Given the description of an element on the screen output the (x, y) to click on. 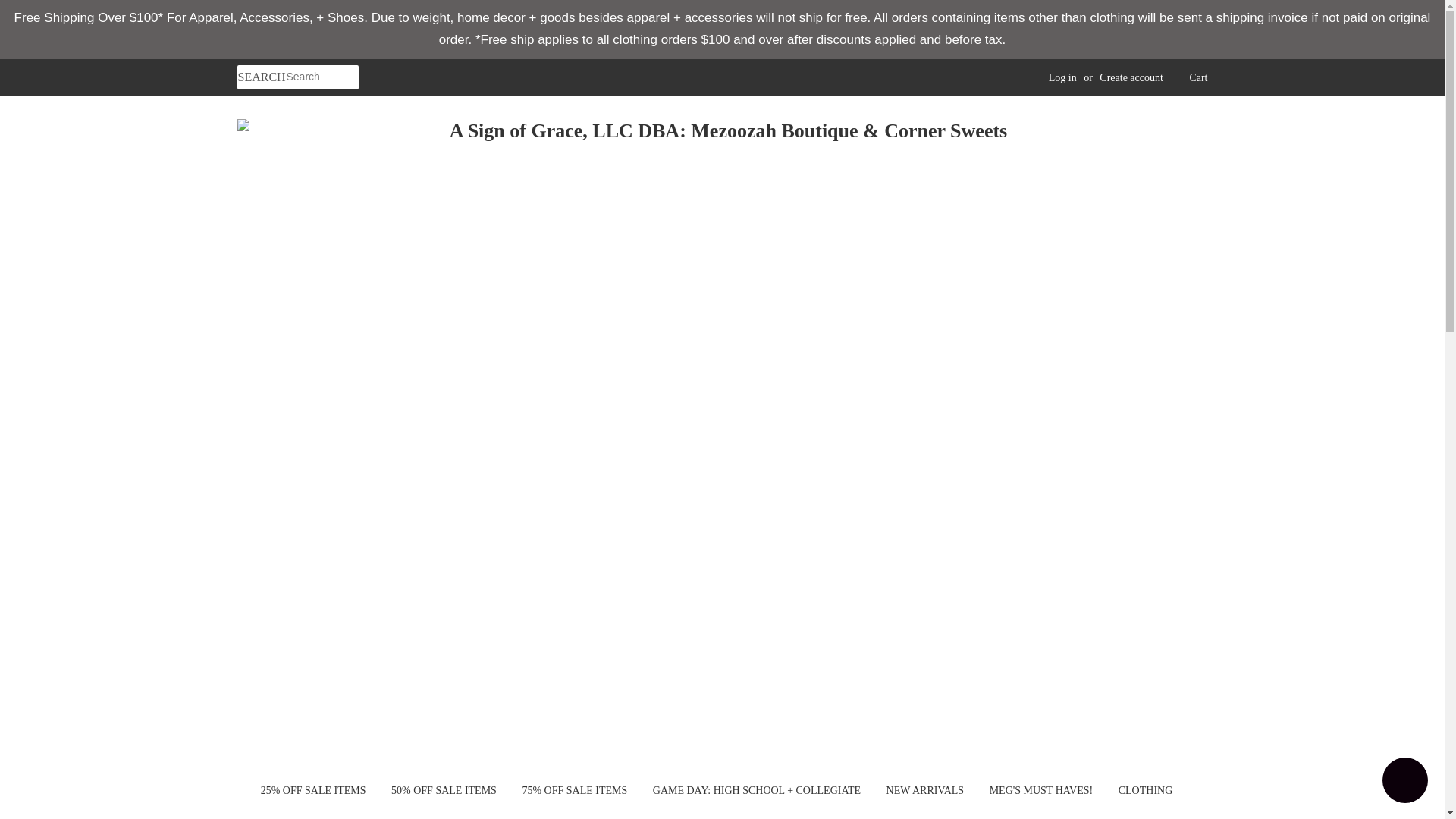
Shopify online store chat (1404, 781)
Log in (1062, 77)
Cart (1198, 77)
Create account (1131, 77)
SEARCH (260, 77)
